Given the description of an element on the screen output the (x, y) to click on. 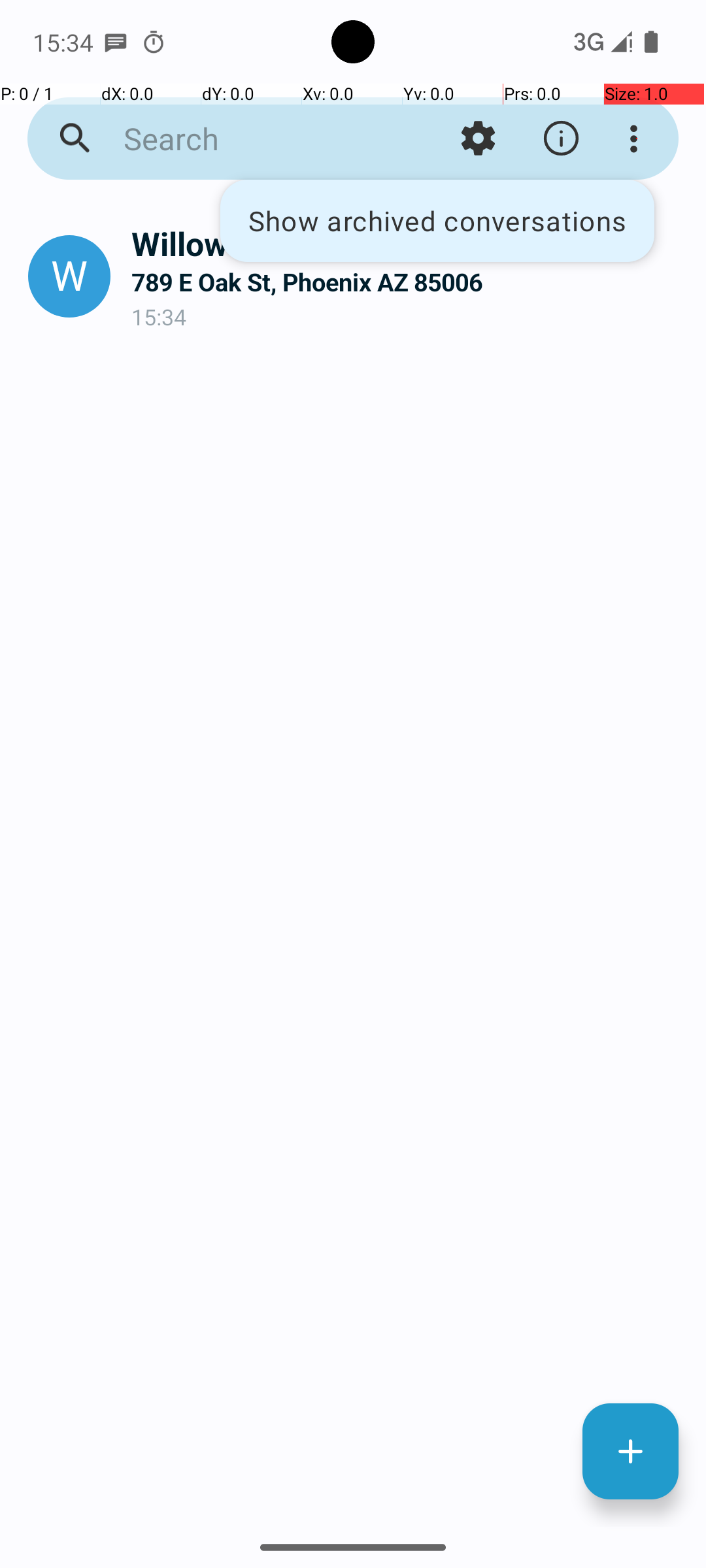
SMS Messenger notification: Willow Hernandez Element type: android.widget.ImageView (115, 41)
